Given the description of an element on the screen output the (x, y) to click on. 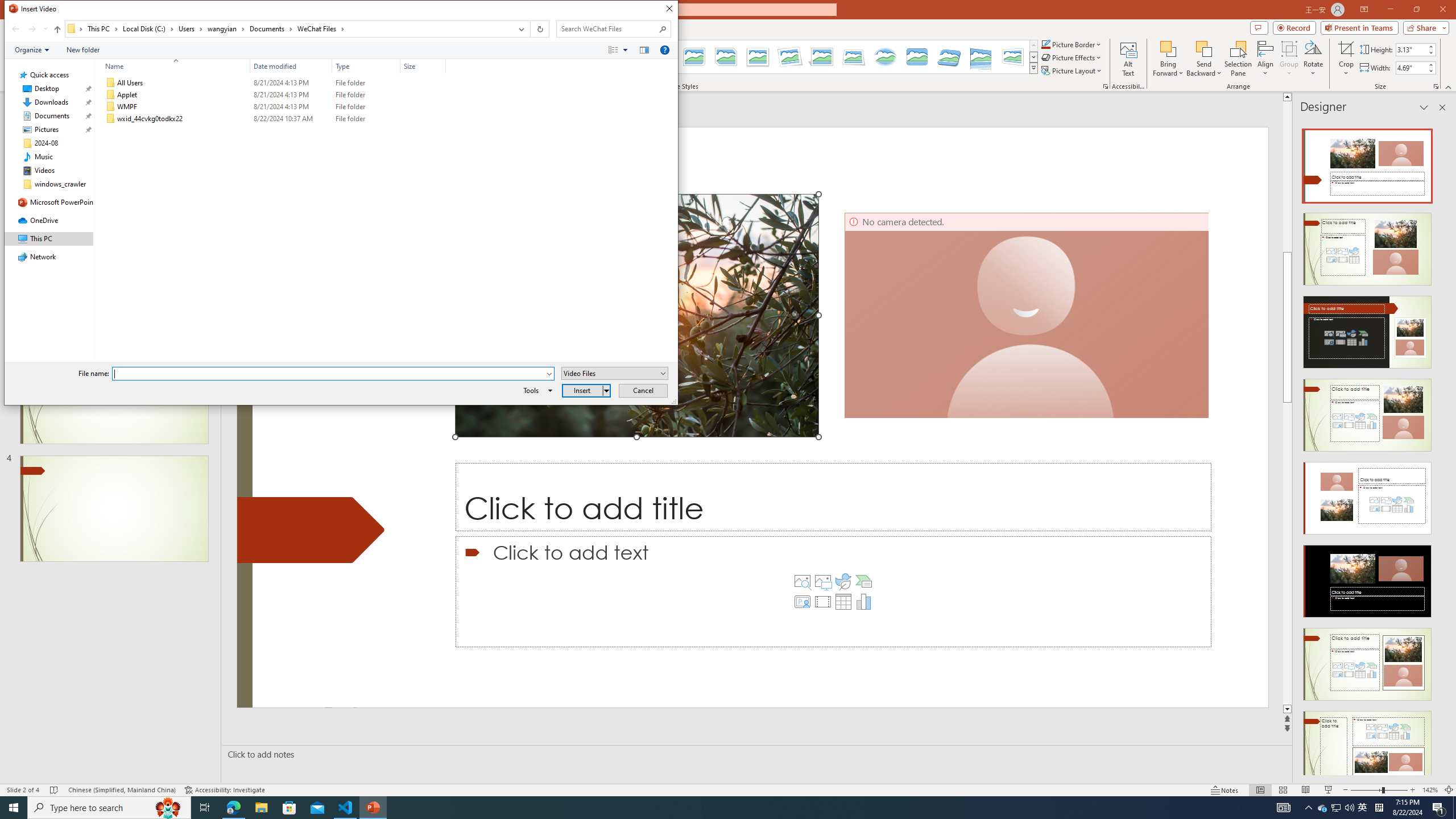
Rotated, White (790, 56)
All locations (75, 28)
